Given the description of an element on the screen output the (x, y) to click on. 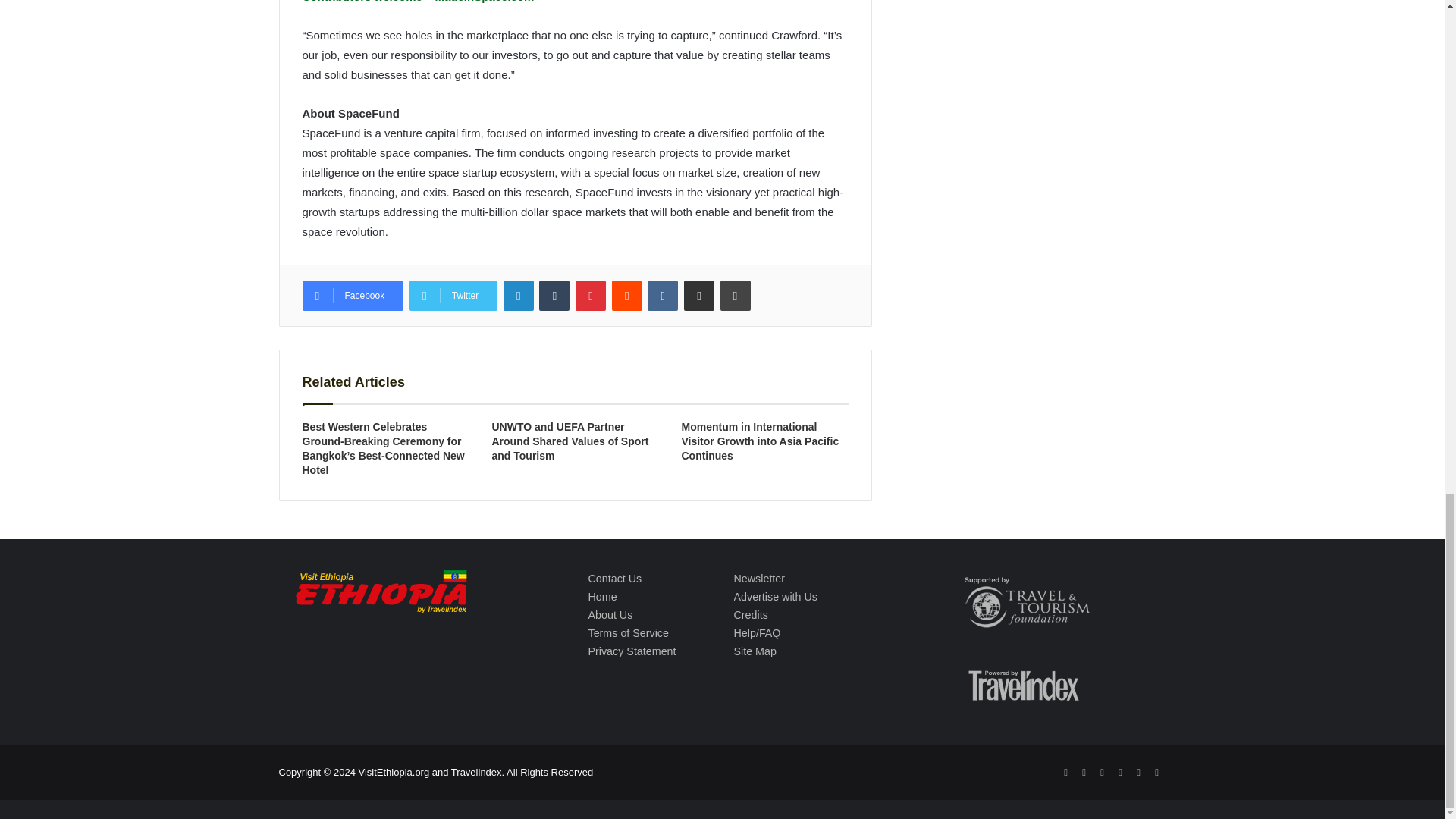
Twitter (453, 295)
Facebook (352, 295)
Tumblr (553, 295)
VKontakte (662, 295)
Share via Email (699, 295)
Pinterest (590, 295)
Reddit (626, 295)
LinkedIn (518, 295)
Print (735, 295)
